Given the description of an element on the screen output the (x, y) to click on. 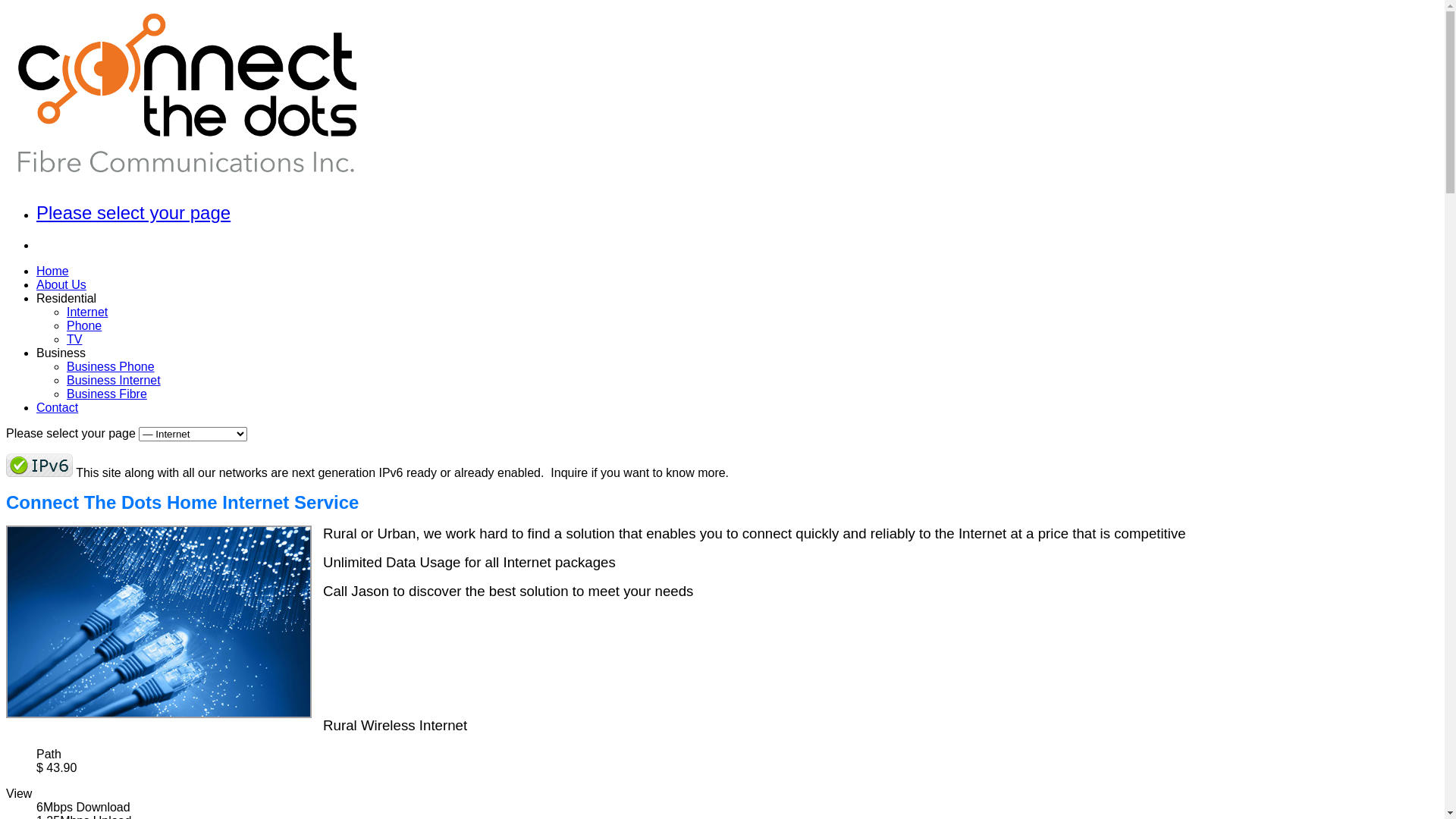
Internet Element type: text (86, 311)
Business Phone Element type: text (110, 366)
Business Element type: text (60, 352)
Home Element type: text (52, 270)
Business Fibre Element type: text (106, 393)
Residential Element type: text (66, 297)
Business Internet Element type: text (113, 379)
Connect The Dots Fibre Communications Inc. Element type: hover (188, 179)
About Us Element type: text (61, 284)
Contact Element type: text (57, 407)
Please select your page Element type: text (133, 212)
ipv6 ready Element type: hover (39, 464)
Phone Element type: text (83, 325)
TV Element type: text (73, 338)
